Given the description of an element on the screen output the (x, y) to click on. 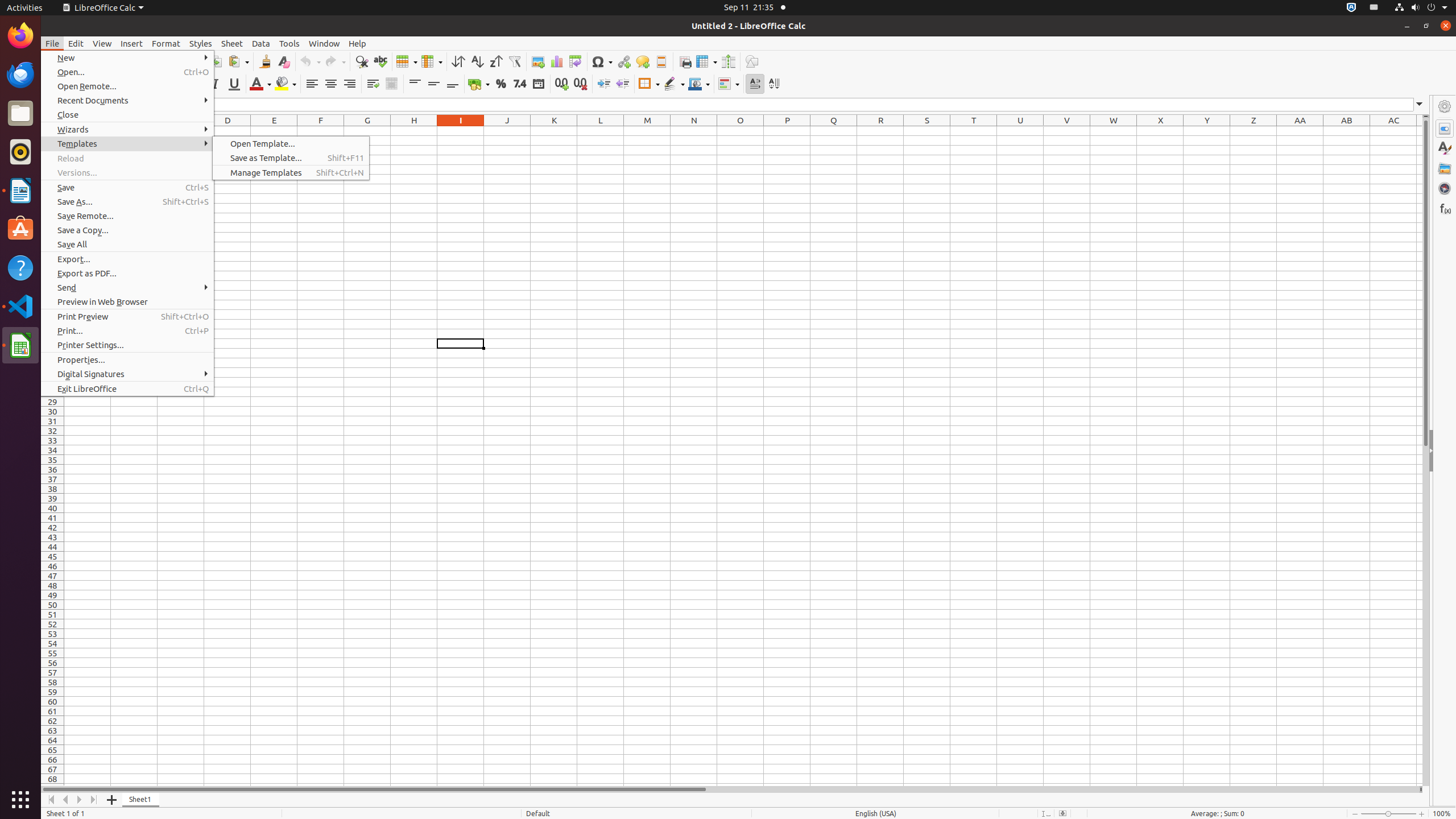
Center Vertically Element type: push-button (433, 83)
Sheet Element type: menu (231, 43)
O1 Element type: table-cell (740, 130)
Expand Formula Bar Element type: push-button (1419, 104)
Increase Element type: push-button (603, 83)
